Given the description of an element on the screen output the (x, y) to click on. 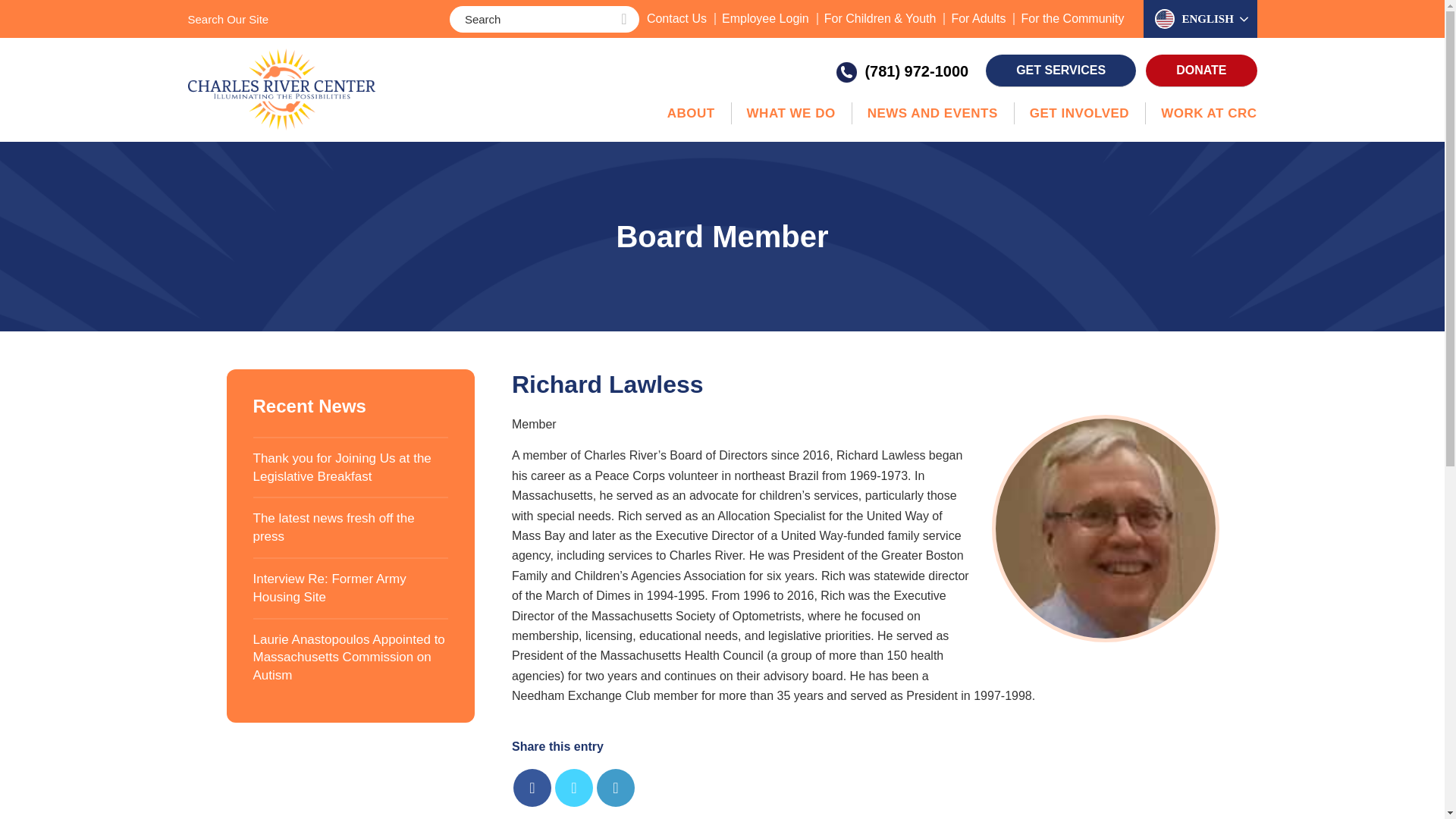
For Adults (978, 18)
ENGLISH (1210, 18)
For the Community (1072, 18)
Employee Login (765, 18)
Contact Us (676, 18)
WHAT WE DO (790, 113)
ABOUT (690, 113)
